Given the description of an element on the screen output the (x, y) to click on. 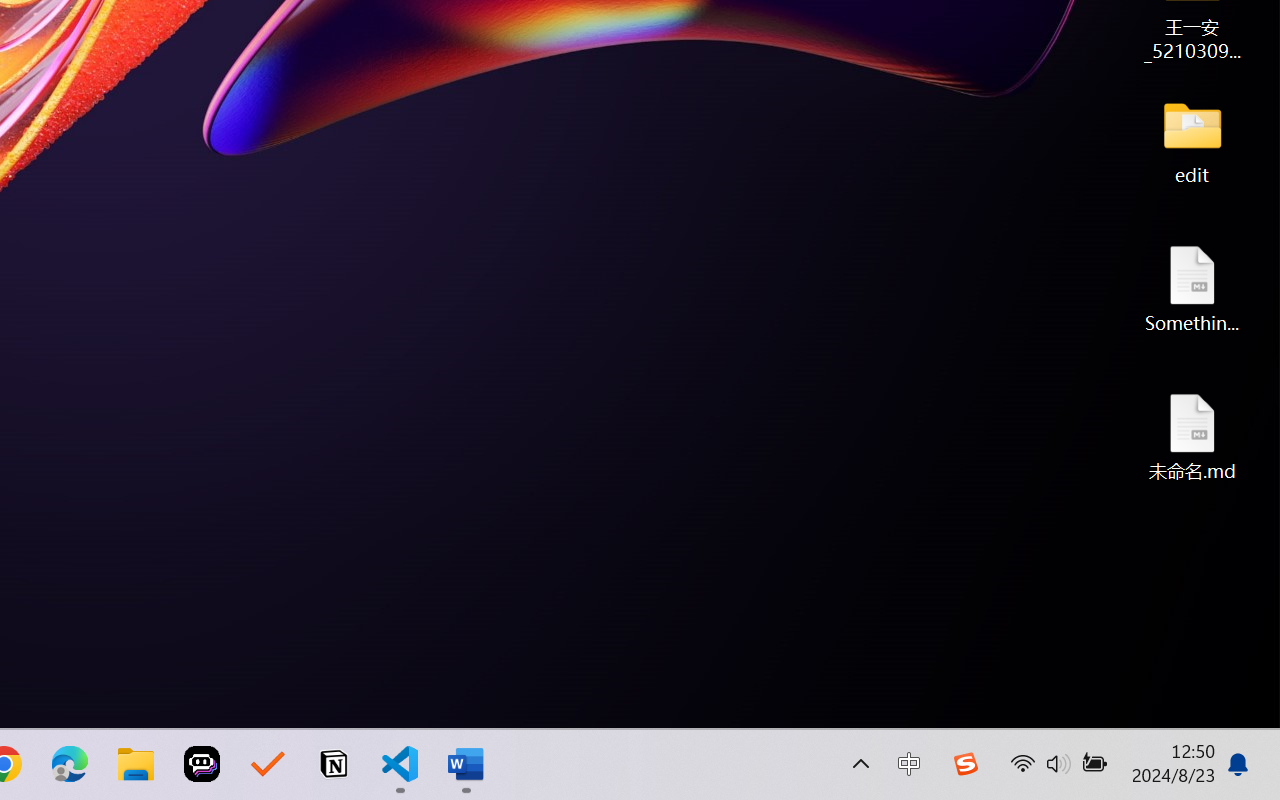
Microsoft Edge (69, 764)
Something.md (1192, 288)
